Given the description of an element on the screen output the (x, y) to click on. 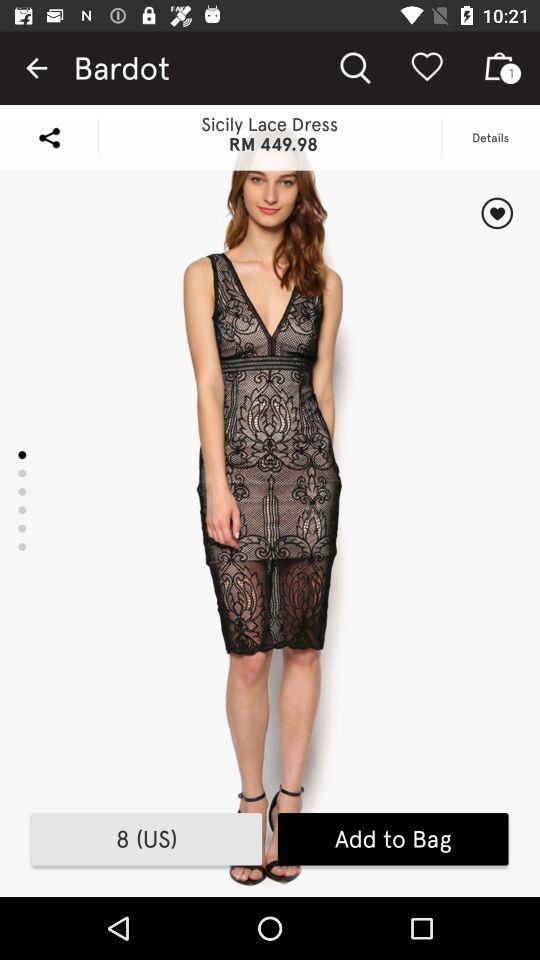
tap the item below details item (496, 213)
